Given the description of an element on the screen output the (x, y) to click on. 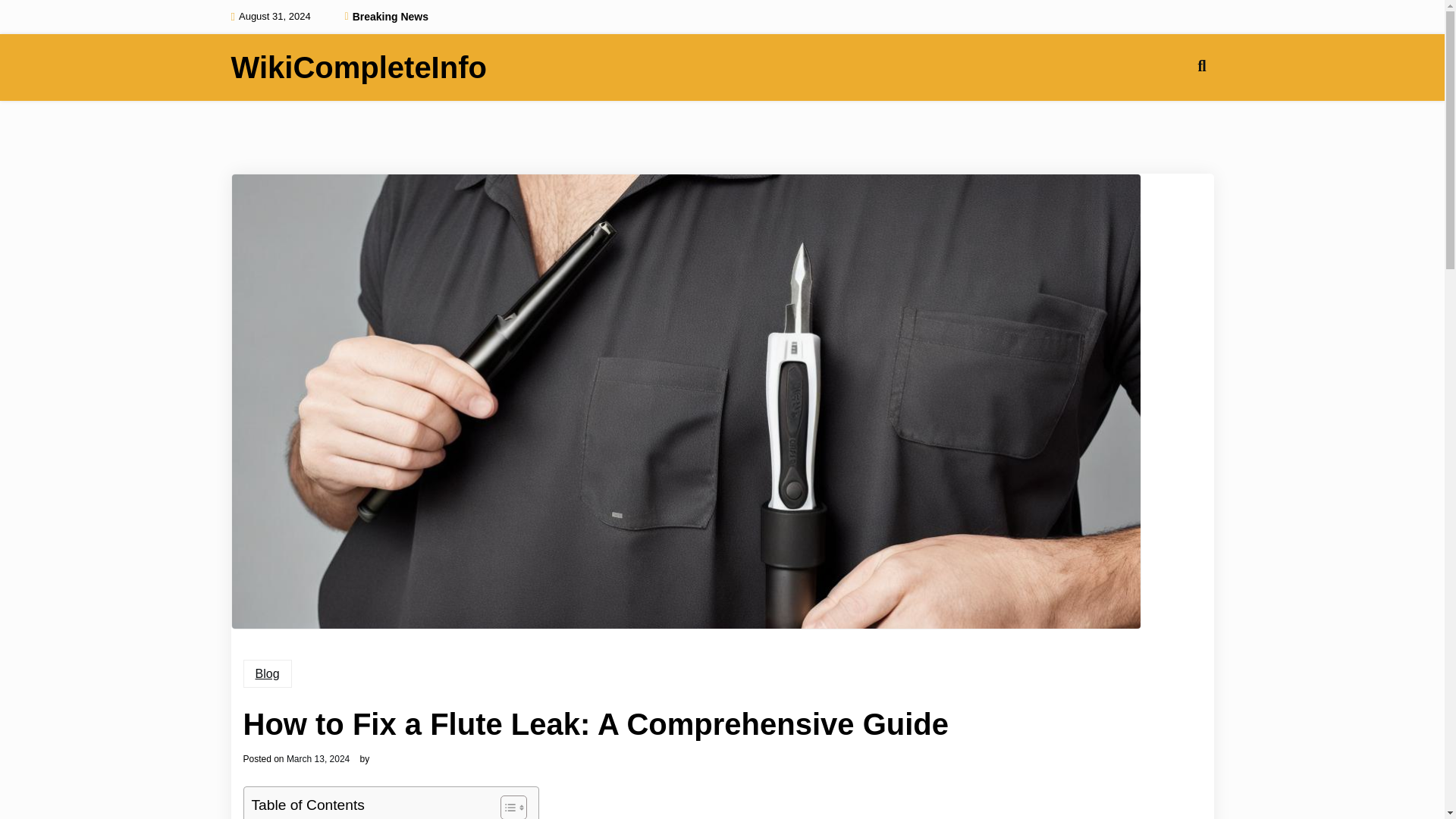
Blog (267, 674)
WikiCompleteInfo (358, 67)
March 13, 2024 (317, 758)
